Given the description of an element on the screen output the (x, y) to click on. 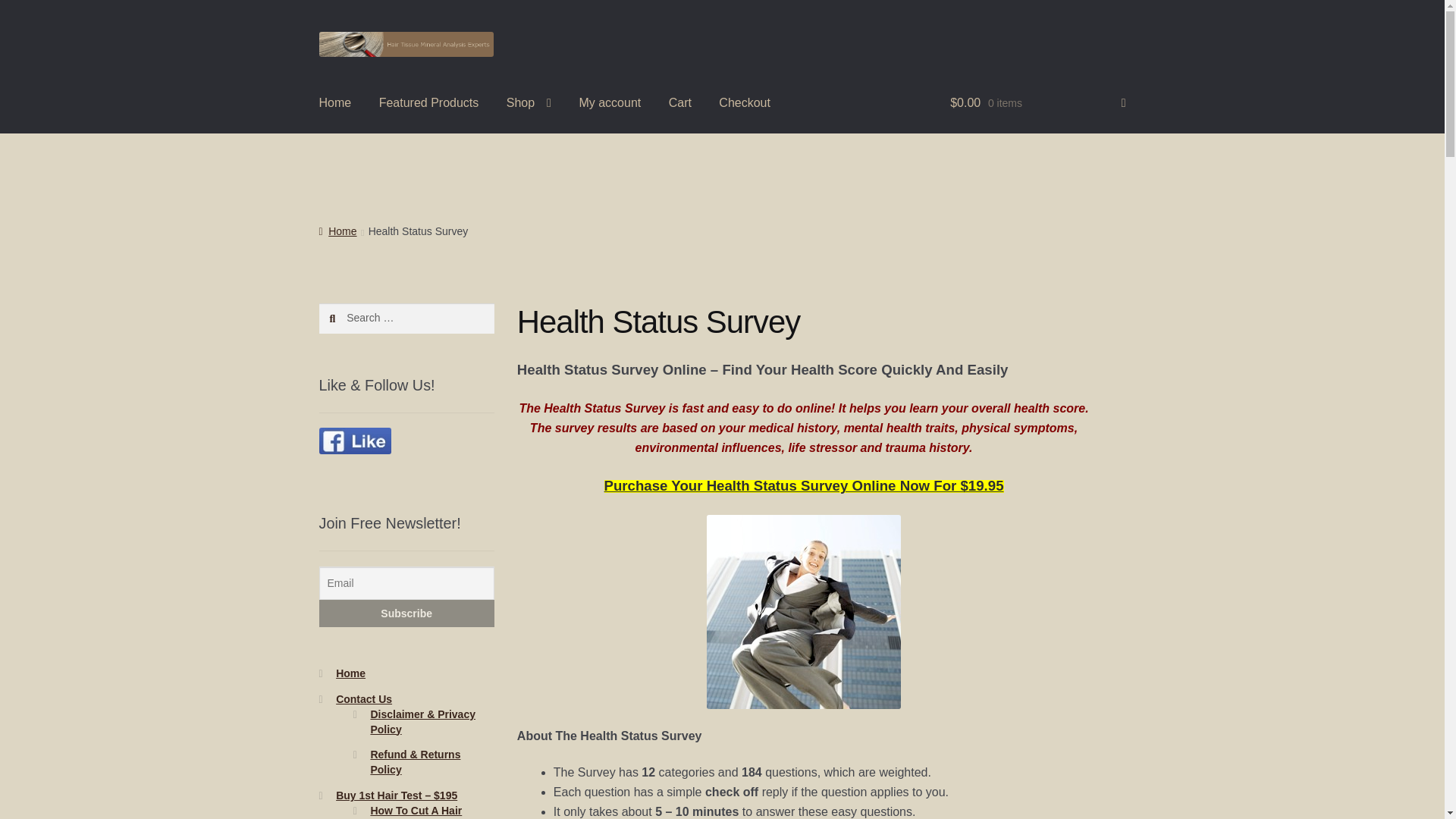
View your shopping cart (1037, 102)
Featured Products (429, 102)
Subscribe (406, 613)
Shop (529, 102)
Checkout (744, 102)
My account (609, 102)
Home (335, 102)
